Given the description of an element on the screen output the (x, y) to click on. 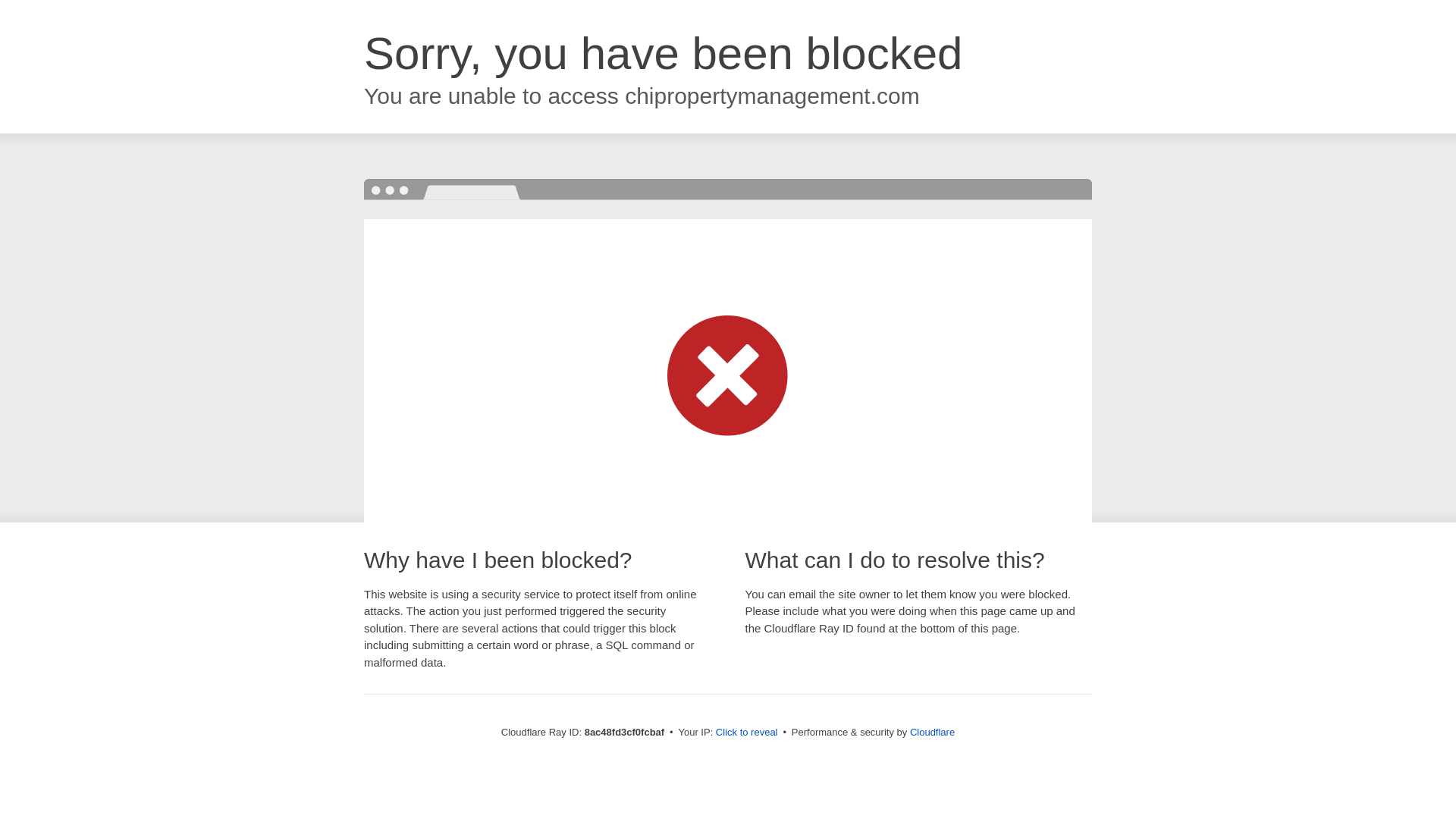
Click to reveal (746, 732)
Cloudflare (932, 731)
